Given the description of an element on the screen output the (x, y) to click on. 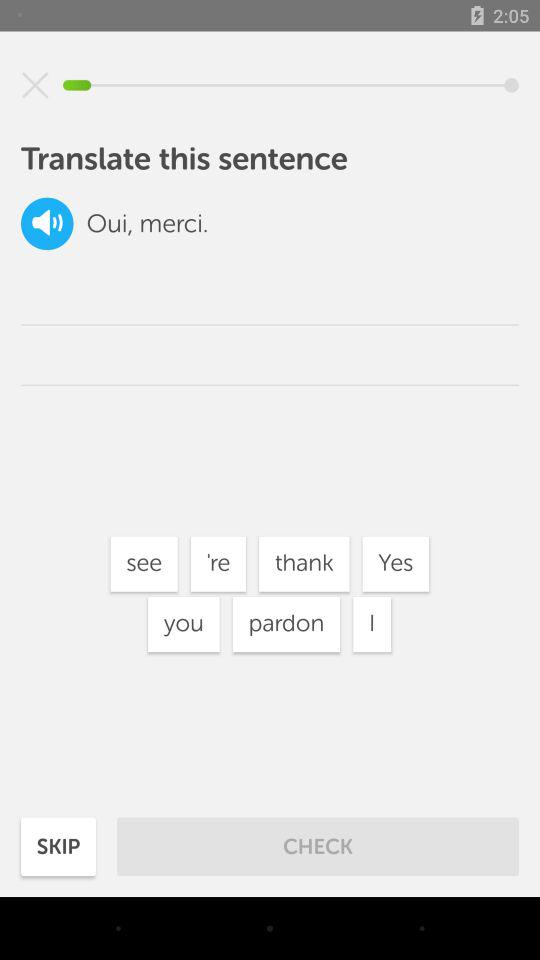
turn off the skip item (58, 846)
